Given the description of an element on the screen output the (x, y) to click on. 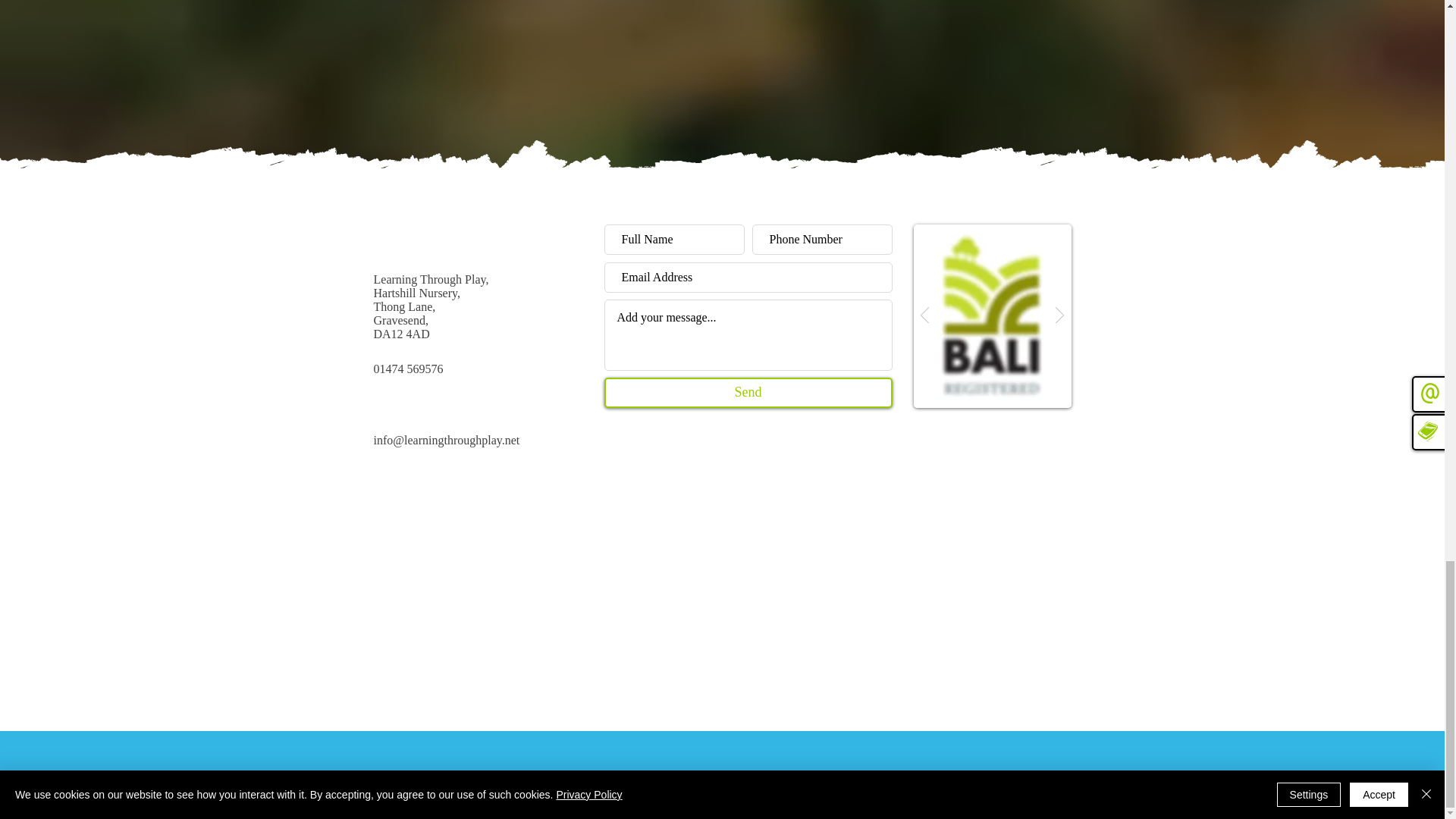
Send (747, 392)
